Given the description of an element on the screen output the (x, y) to click on. 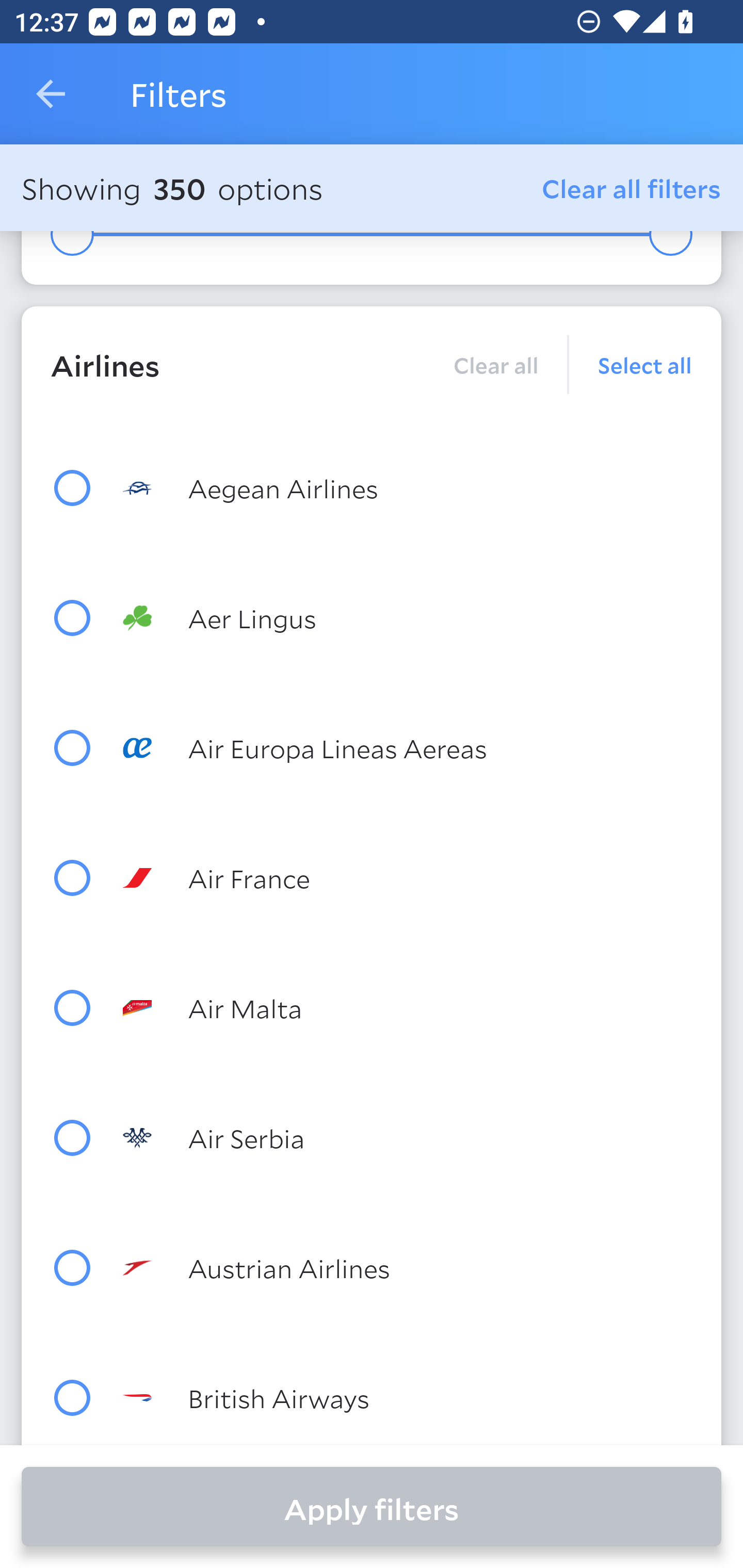
Navigate up (50, 93)
Clear all filters (631, 187)
Clear all (495, 364)
Select all (630, 364)
Aegean Airlines (407, 487)
Aer Lingus (407, 617)
Air Europa Lineas Aereas (407, 747)
Air France (407, 877)
Air Malta (407, 1007)
Air Serbia (407, 1138)
Austrian Airlines (407, 1267)
British Airways (407, 1397)
Apply filters (371, 1506)
